Given the description of an element on the screen output the (x, y) to click on. 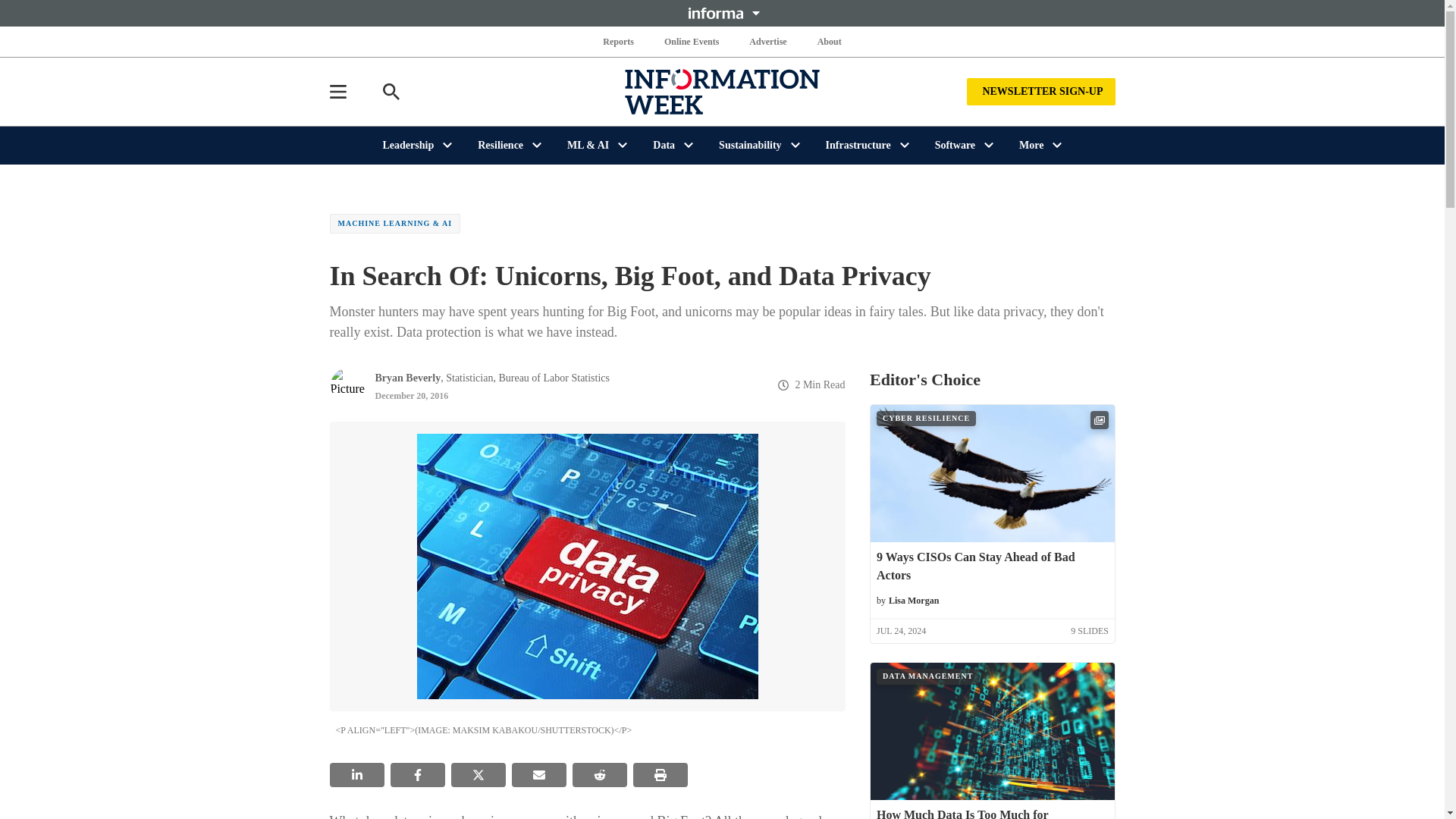
Online Events (691, 41)
Reports (618, 41)
Advertise (767, 41)
NEWSLETTER SIGN-UP (1040, 90)
About (828, 41)
InformationWeek (722, 91)
